Given the description of an element on the screen output the (x, y) to click on. 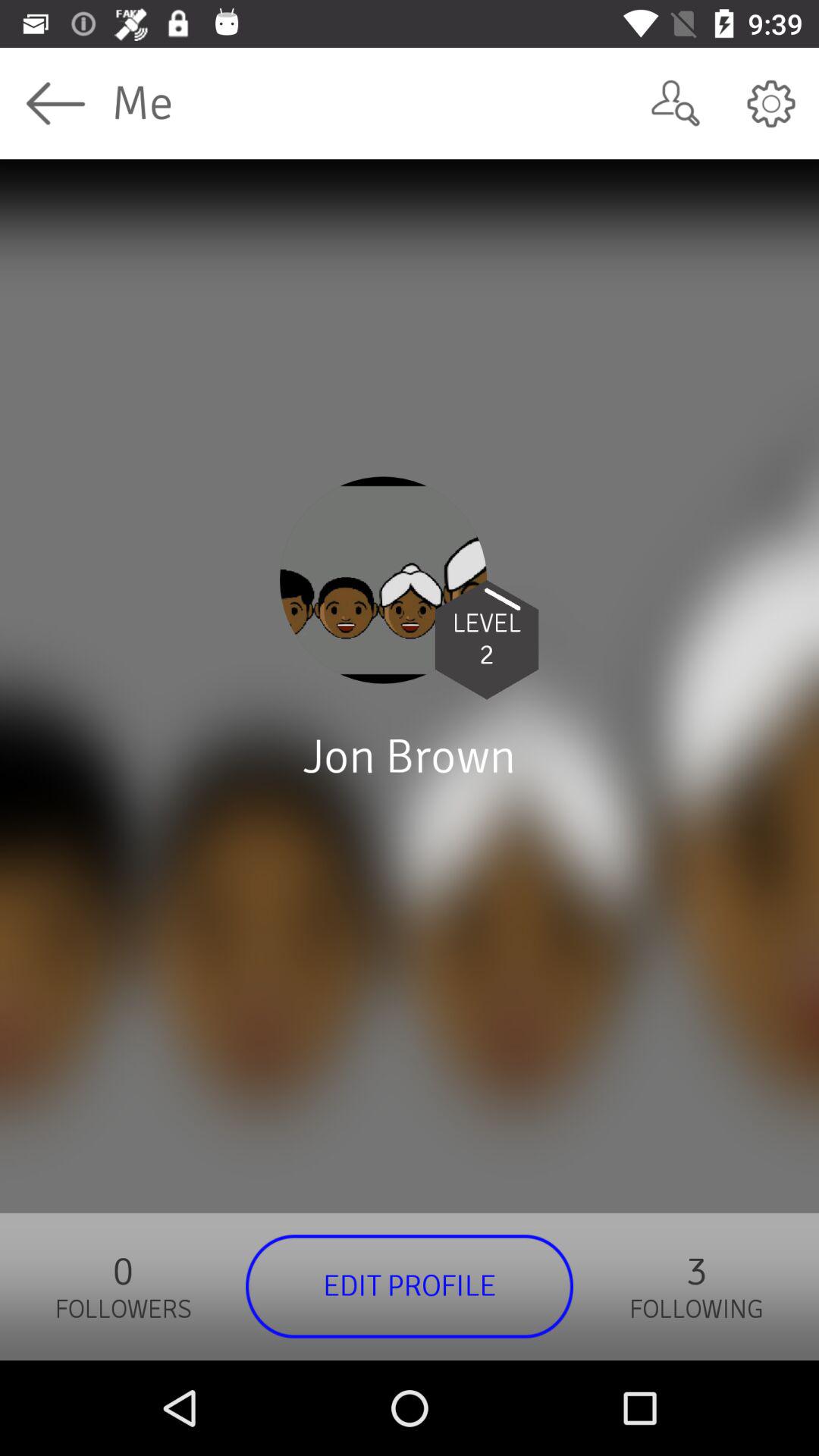
open app next to the 3 item (409, 1286)
